Given the description of an element on the screen output the (x, y) to click on. 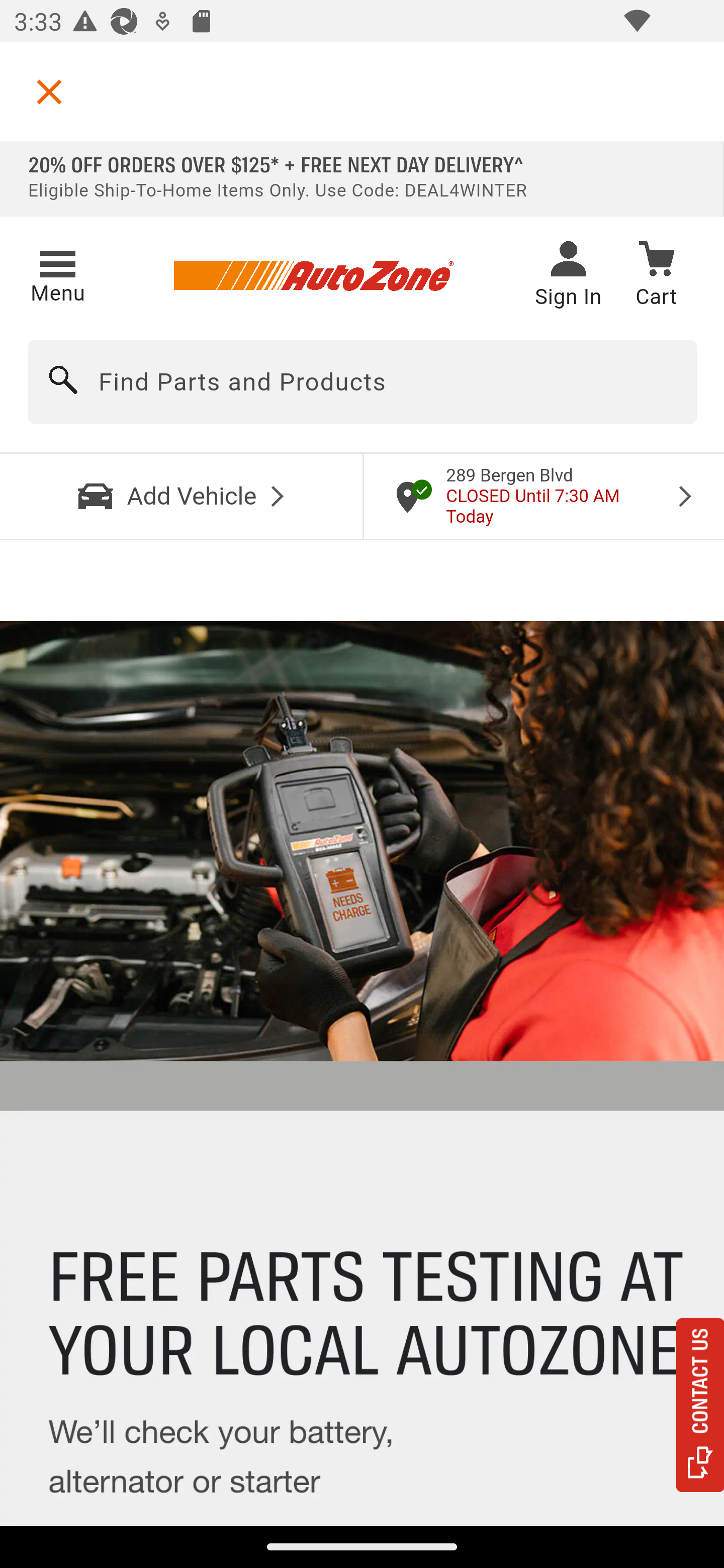
 (49, 91)
Menu (57, 273)
Sign In (567, 276)
AutoZone Logo (links to homepage) (312, 276)
shopping cart 0 items (655, 277)
Search (63, 382)
Add Vehicle (182, 495)
Contact Us (699, 1404)
